Given the description of an element on the screen output the (x, y) to click on. 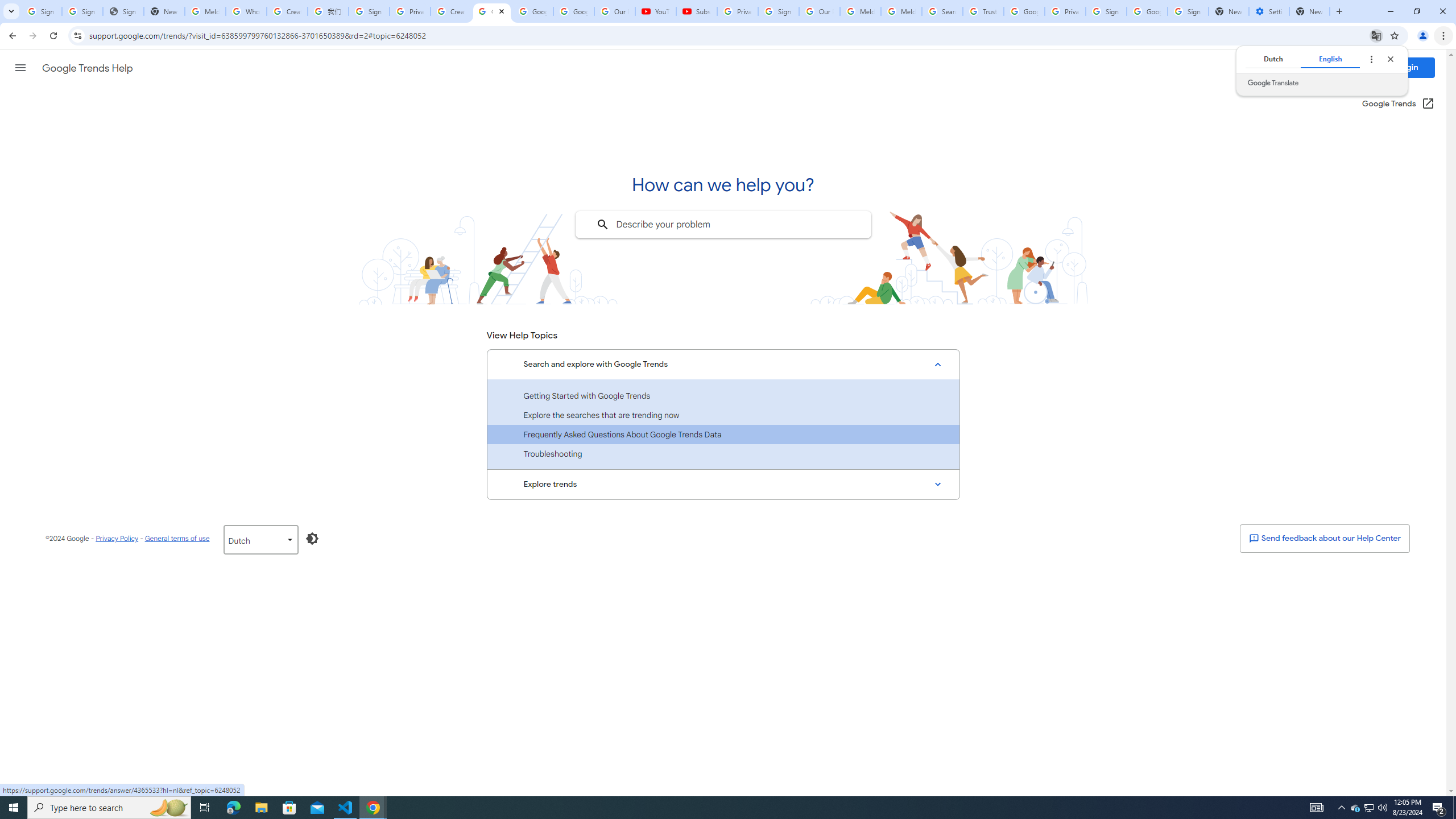
Sign in - Google Accounts (777, 11)
Google Trends (Opens in new window) (1398, 103)
Create your Google Account (450, 11)
Sign in - Google Accounts (1105, 11)
